Given the description of an element on the screen output the (x, y) to click on. 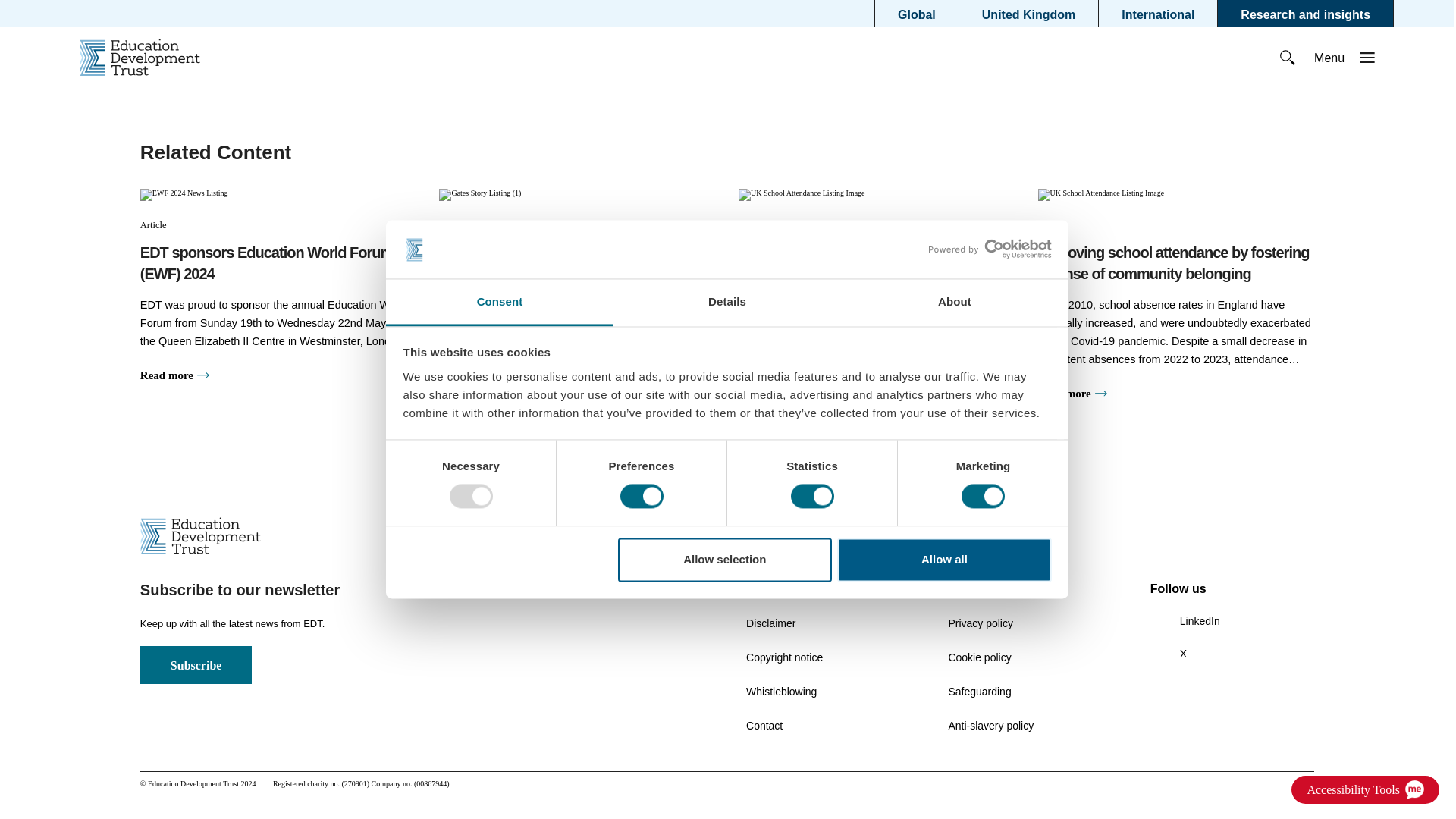
Work with us (978, 589)
Terms and conditions (795, 589)
